Given the description of an element on the screen output the (x, y) to click on. 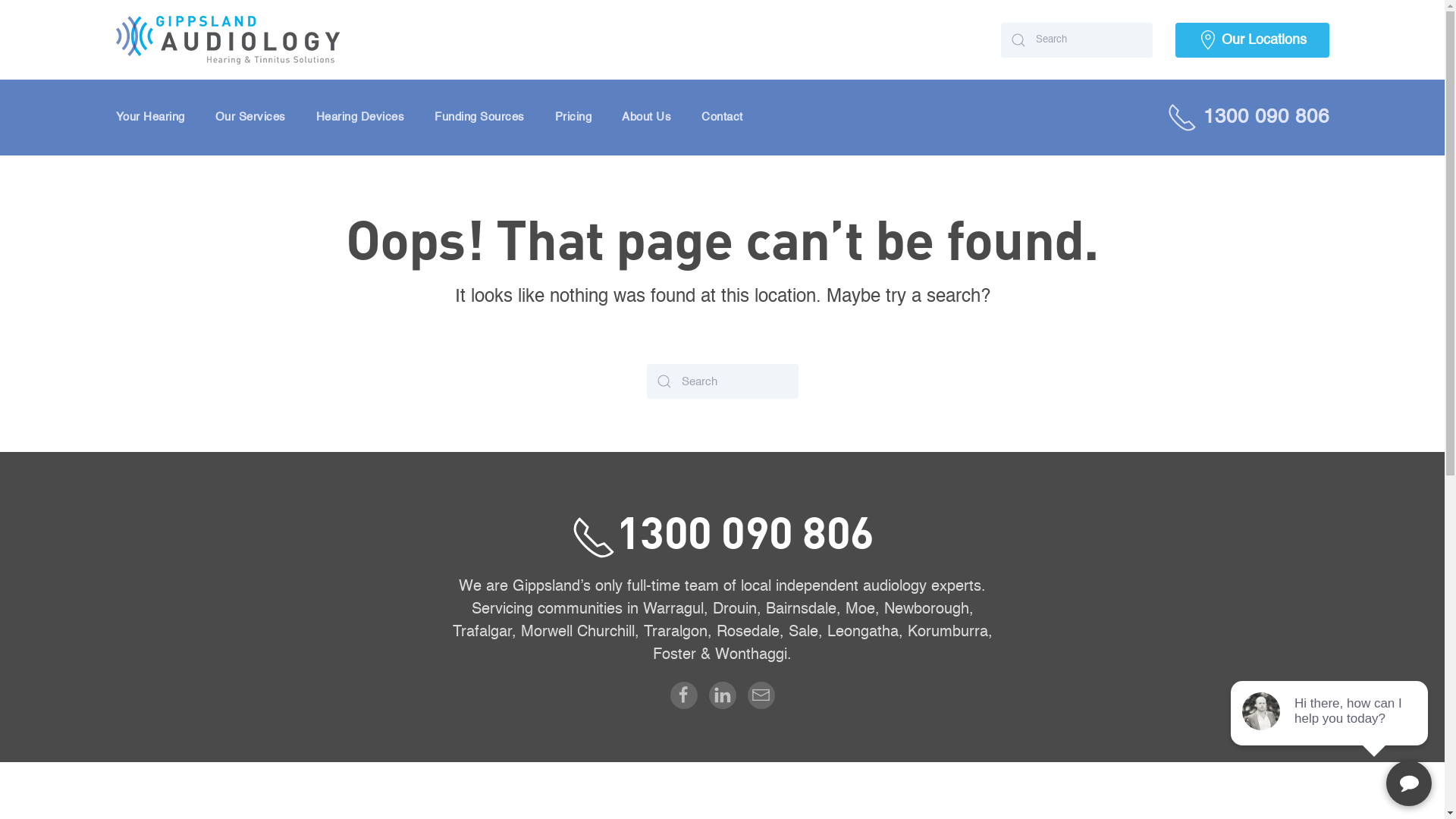
Pricing Element type: text (573, 117)
Funding Sources Element type: text (479, 117)
Our Services Element type: text (250, 117)
About Us Element type: text (646, 117)
Hearing Devices Element type: text (359, 117)
1300 090 806 Element type: text (722, 531)
Our Locations Element type: text (1252, 39)
Your Hearing Element type: text (149, 117)
Contact Element type: text (722, 117)
1300 090 806 Element type: text (1247, 117)
